Given the description of an element on the screen output the (x, y) to click on. 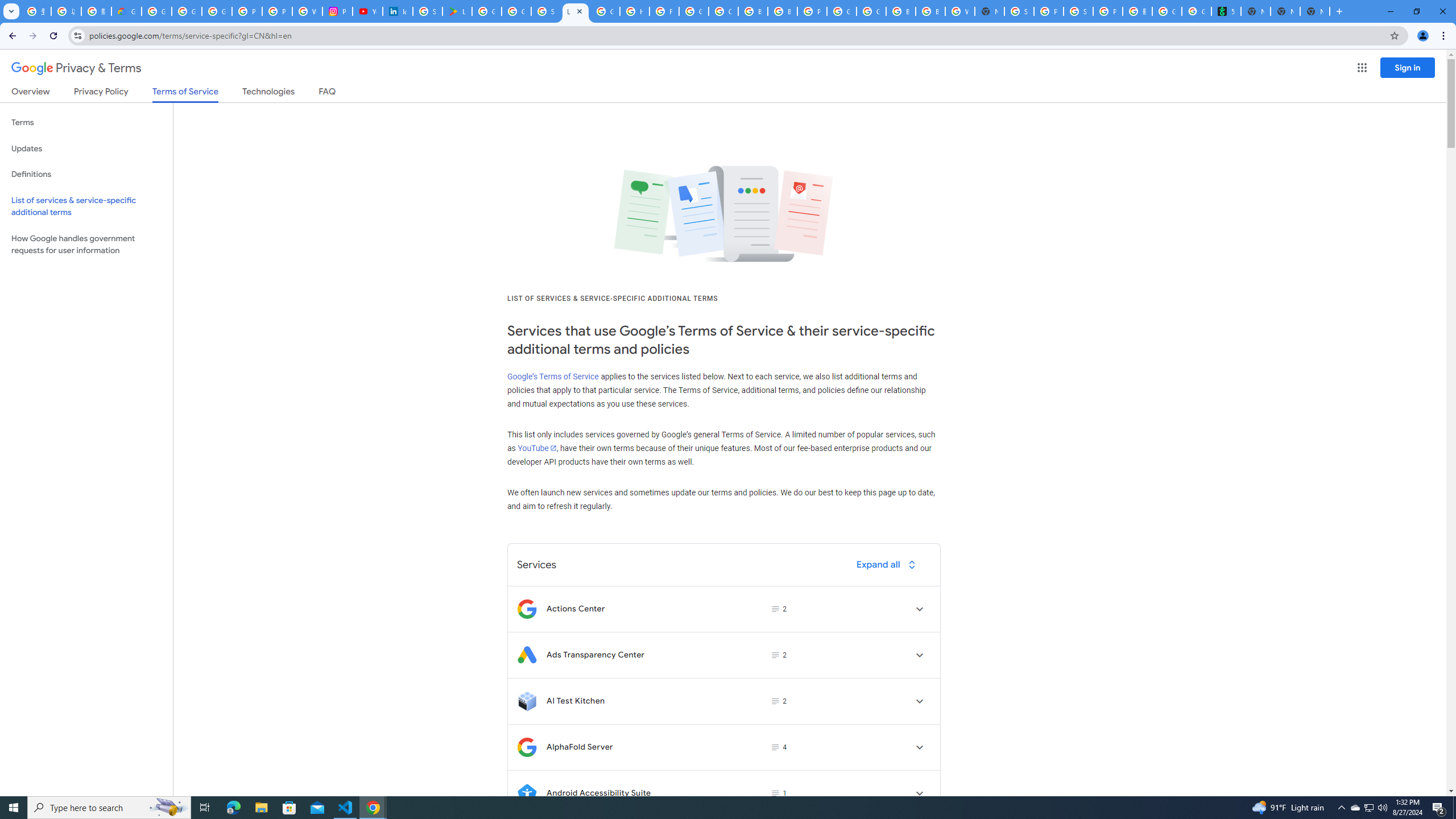
Browse Chrome as a guest - Computer - Google Chrome Help (782, 11)
Terms of Service (184, 94)
How Google handles government requests for user information (86, 244)
Overview (30, 93)
Google Workspace - Specific Terms (515, 11)
Google Cloud Platform (871, 11)
Privacy & Terms (76, 68)
